Given the description of an element on the screen output the (x, y) to click on. 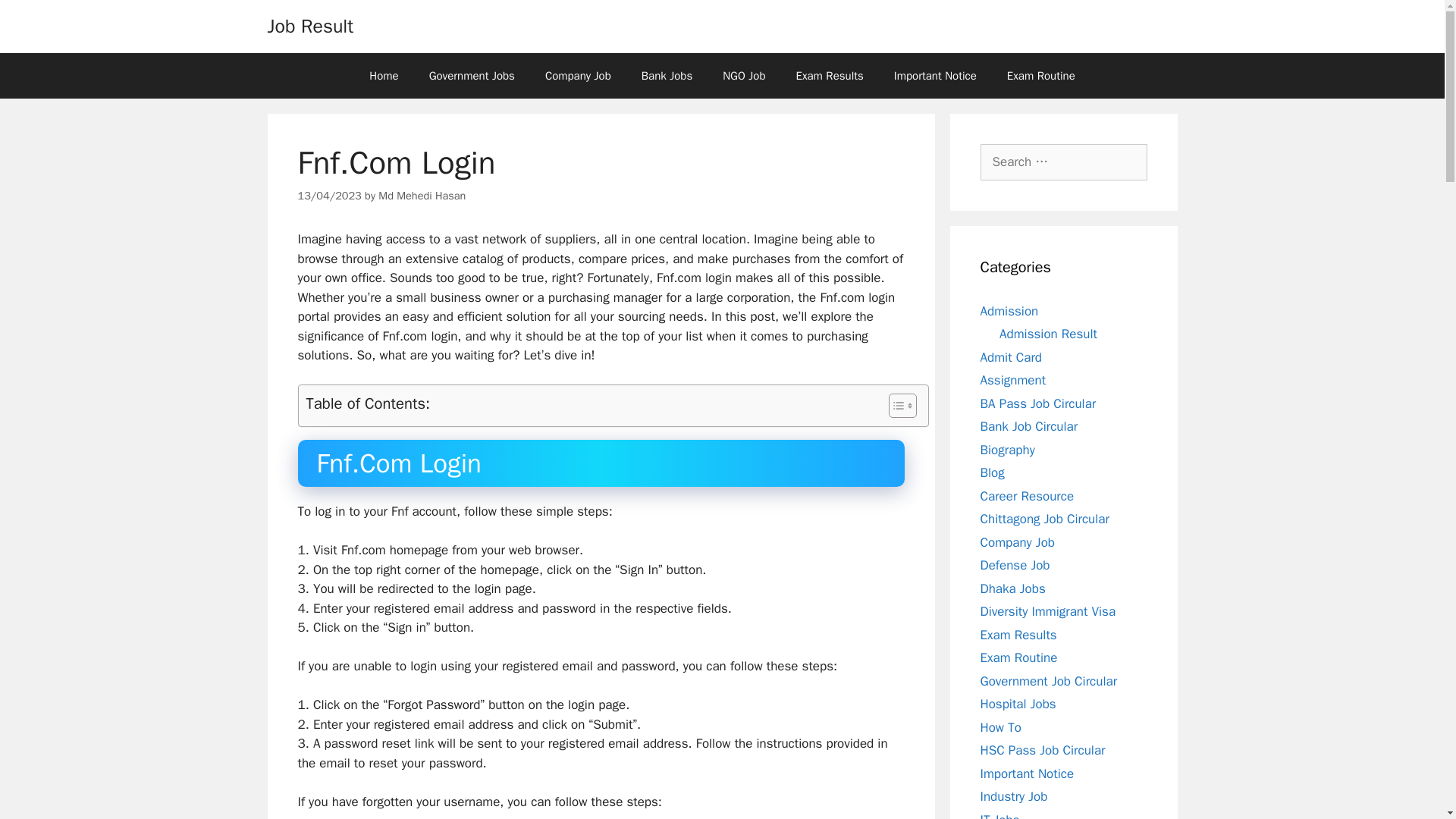
Md Mehedi Hasan (421, 195)
Bank Job Circular (1028, 426)
Exam Routine (1040, 75)
Company Job (577, 75)
Home (383, 75)
View all posts by Md Mehedi Hasan (421, 195)
Job Result (309, 25)
Exam Results (829, 75)
Bank Jobs (666, 75)
Government Jobs (471, 75)
Assignment (1012, 380)
Search (35, 18)
Admit Card (1010, 356)
Admission (1008, 311)
NGO Job (743, 75)
